Given the description of an element on the screen output the (x, y) to click on. 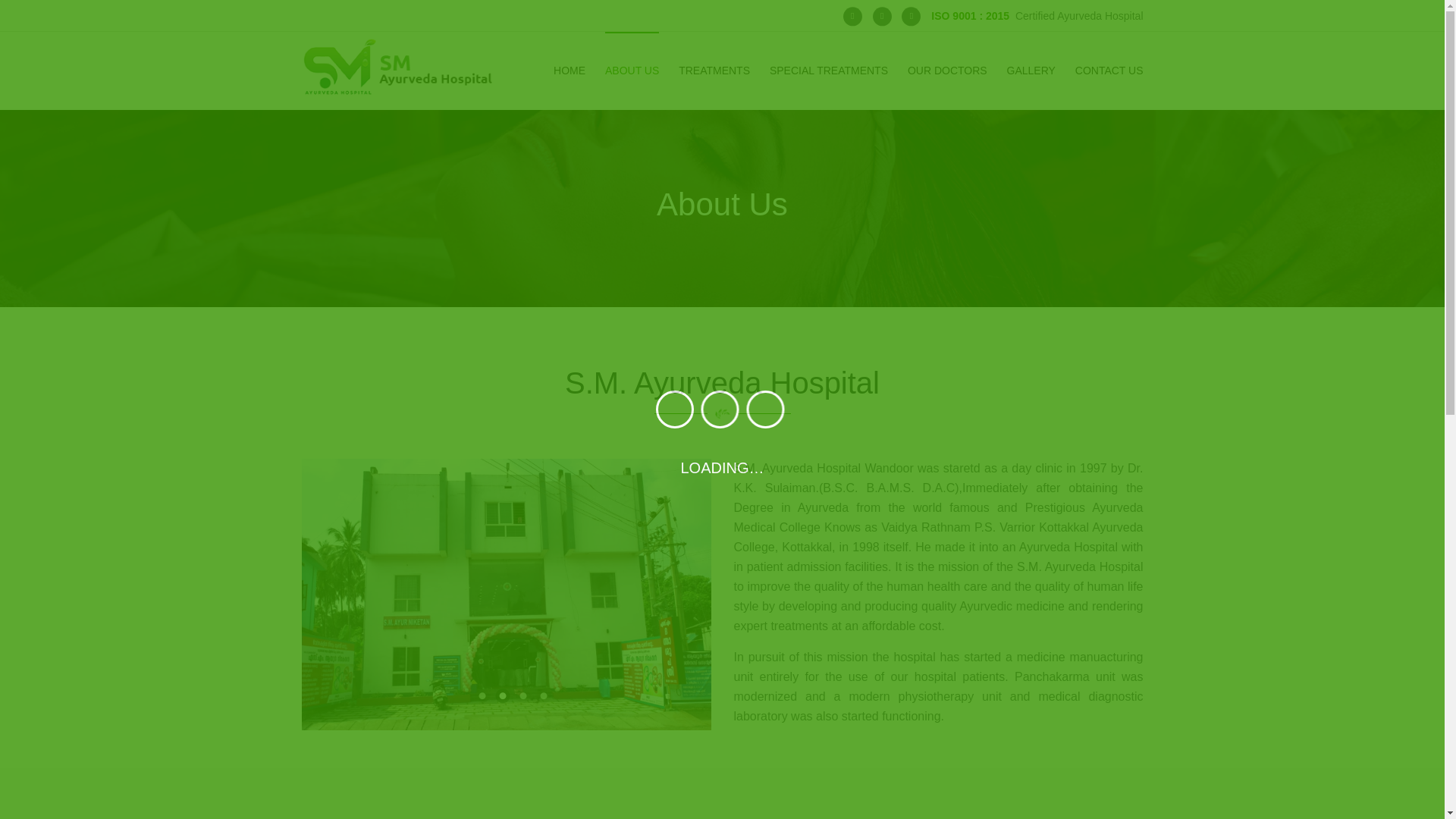
4 (542, 695)
S.M. Ayurveda Hospital (523, 695)
TREATMENTS (713, 66)
3 (523, 695)
S.M. Ayurveda Hospital (542, 695)
CONTACT US (1108, 66)
S.M. Ayurveda Hospital (481, 695)
ISO 9001 : 2015  Certified Ayurveda Hospital (1036, 15)
S.M. Ayurveda Hospital (502, 695)
OUR DOCTORS (947, 66)
